Given the description of an element on the screen output the (x, y) to click on. 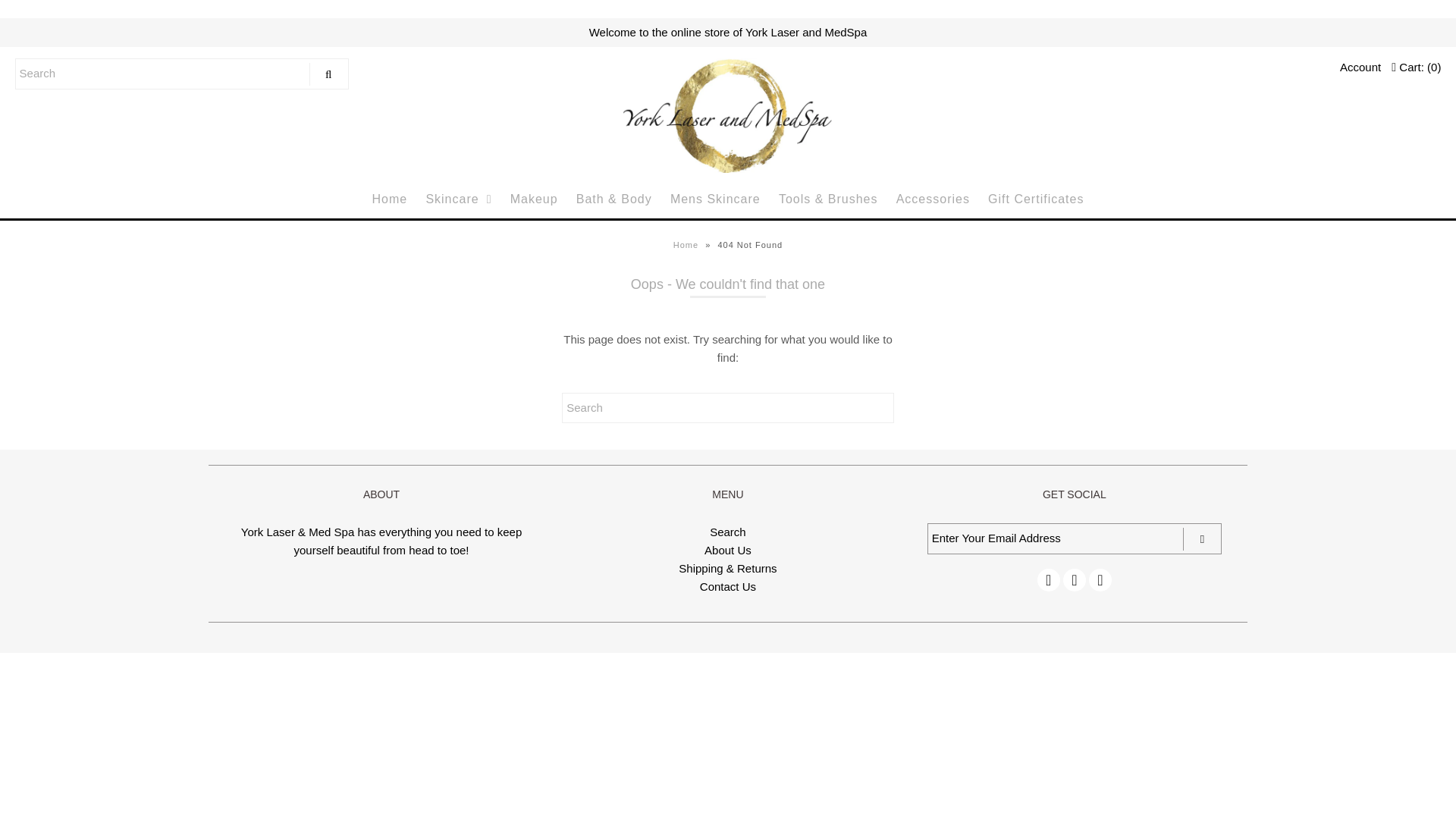
Makeup (534, 199)
Skincare (458, 199)
Account (1359, 66)
Home (389, 199)
Home (686, 244)
Mens Skincare (715, 199)
